Given the description of an element on the screen output the (x, y) to click on. 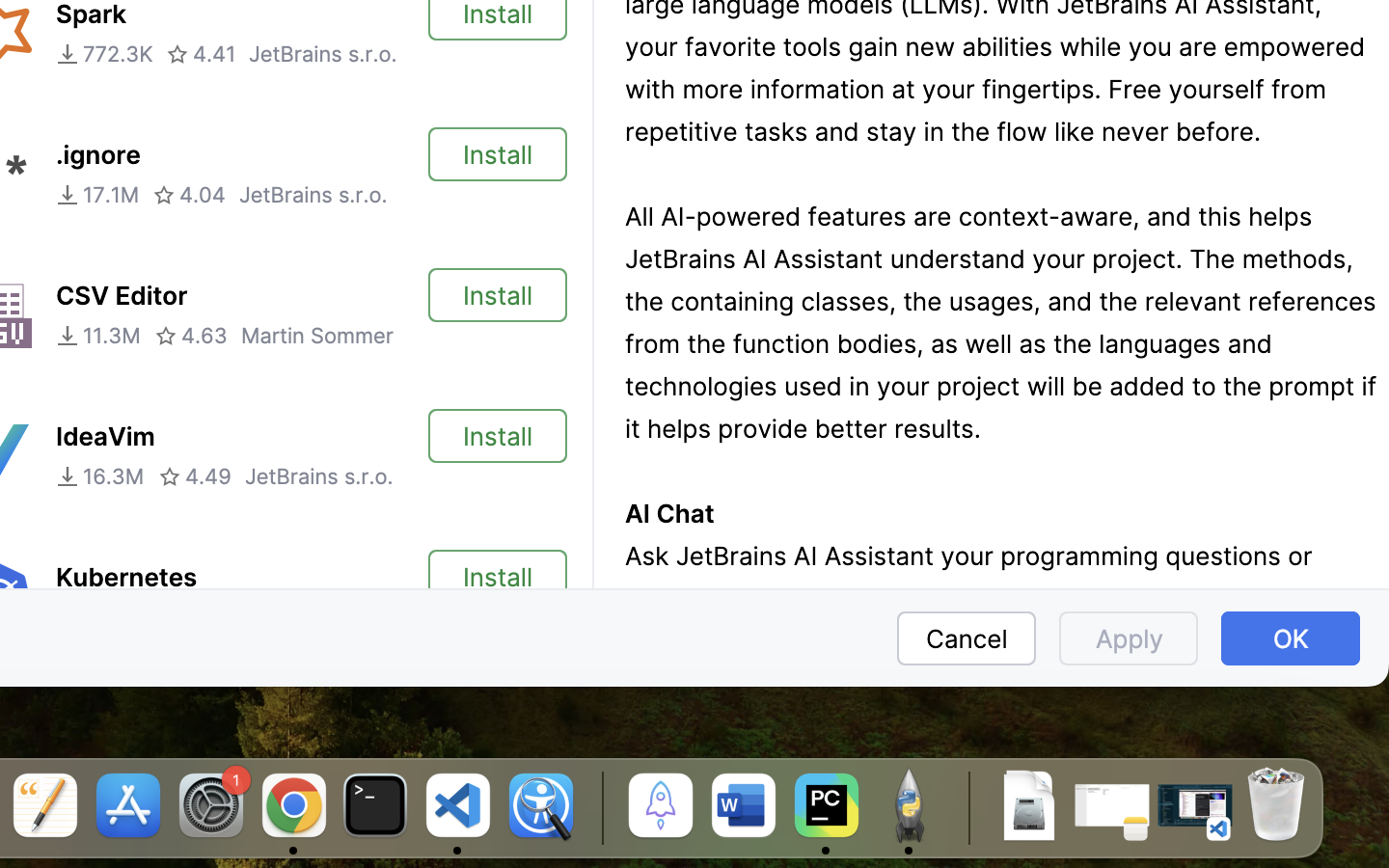
JetBrains s.r.o. Element type: AXStaticText (322, 53)
16.3M Element type: AXStaticText (99, 475)
IdeaVim Element type: AXStaticText (104, 436)
Martin Sommer Element type: AXStaticText (317, 335)
Kubernetes Element type: AXStaticText (125, 577)
